Given the description of an element on the screen output the (x, y) to click on. 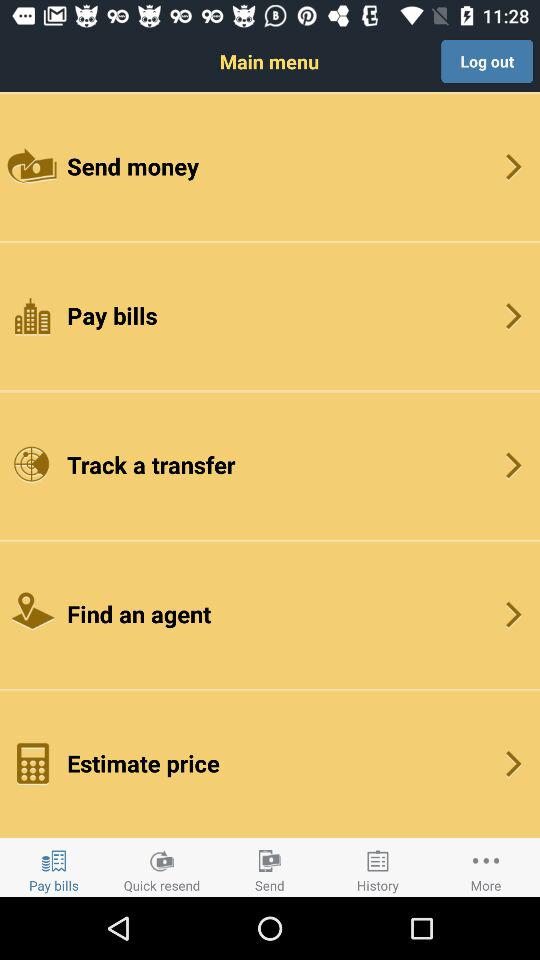
turn off icon above the estimate price icon (270, 613)
